Given the description of an element on the screen output the (x, y) to click on. 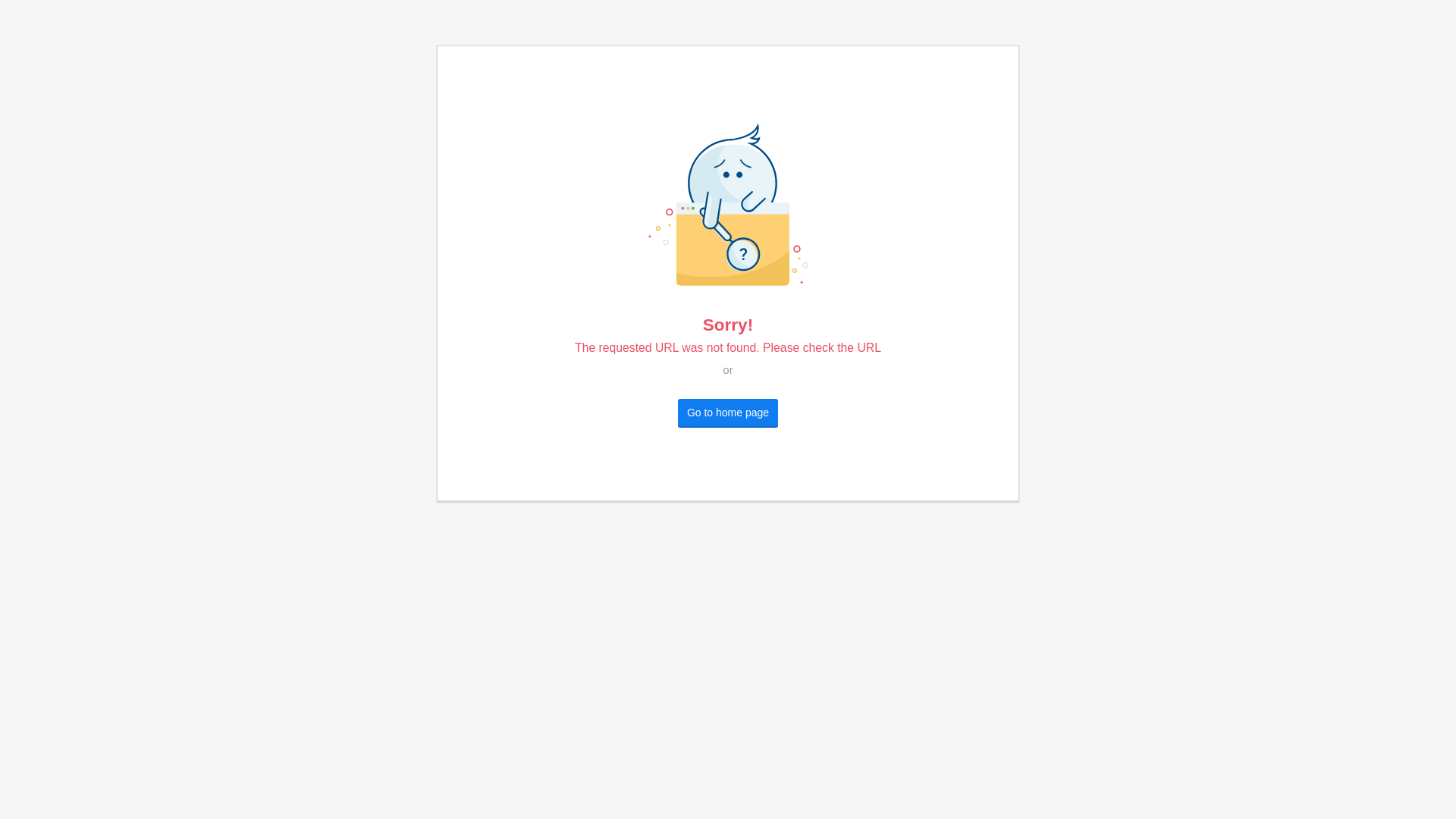
Go to home page Element type: text (727, 412)
